Given the description of an element on the screen output the (x, y) to click on. 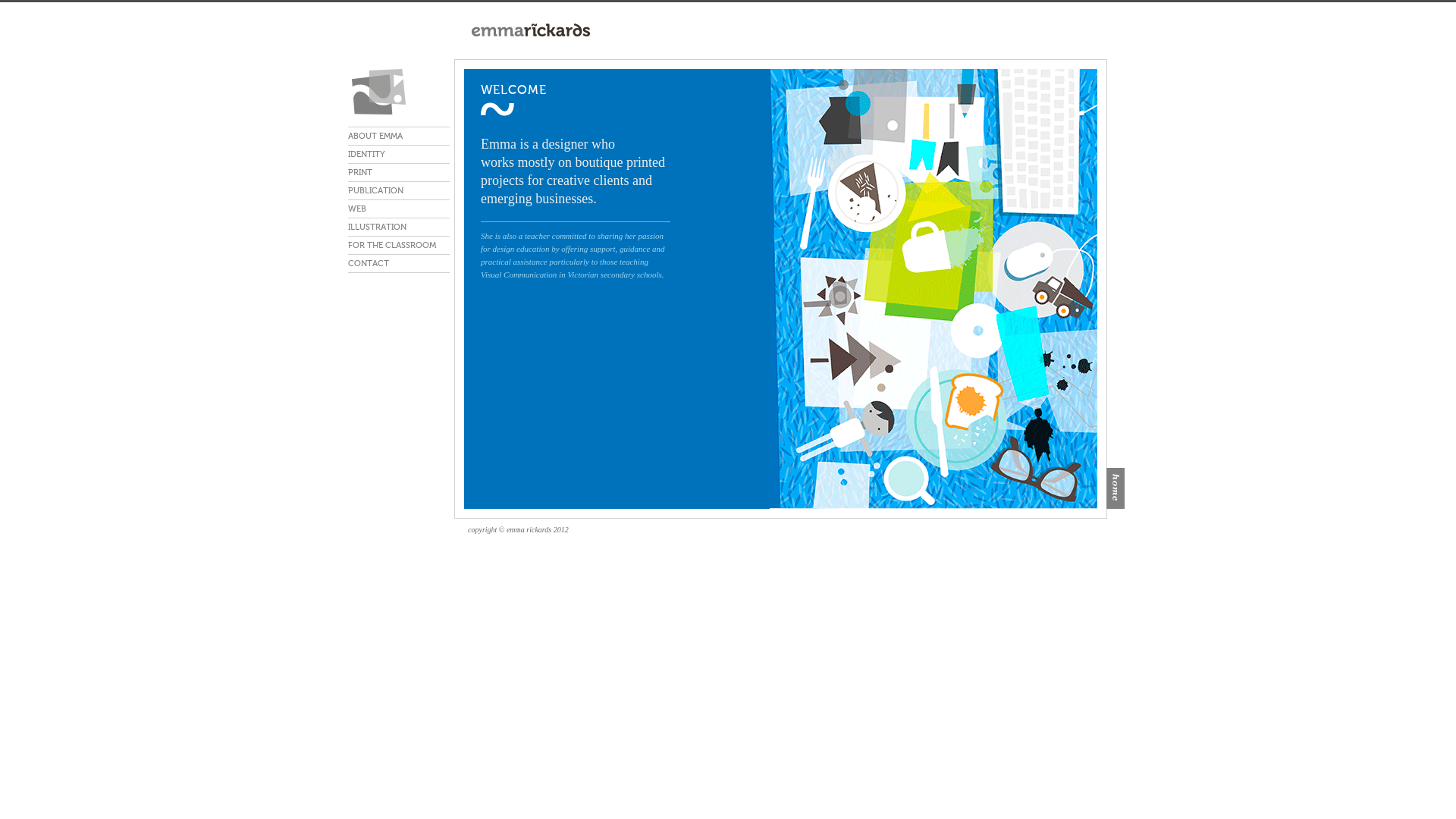
ILLUSTRATION Element type: text (398, 226)
PUBLICATION Element type: text (398, 190)
CONTACT Element type: text (398, 263)
PRINT Element type: text (398, 172)
home Element type: text (1115, 487)
WEB Element type: text (398, 208)
IDENTITY Element type: text (398, 154)
ABOUT EMMA Element type: text (398, 135)
emma rickards Element type: text (398, 91)
FOR THE CLASSROOM Element type: text (398, 245)
